Given the description of an element on the screen output the (x, y) to click on. 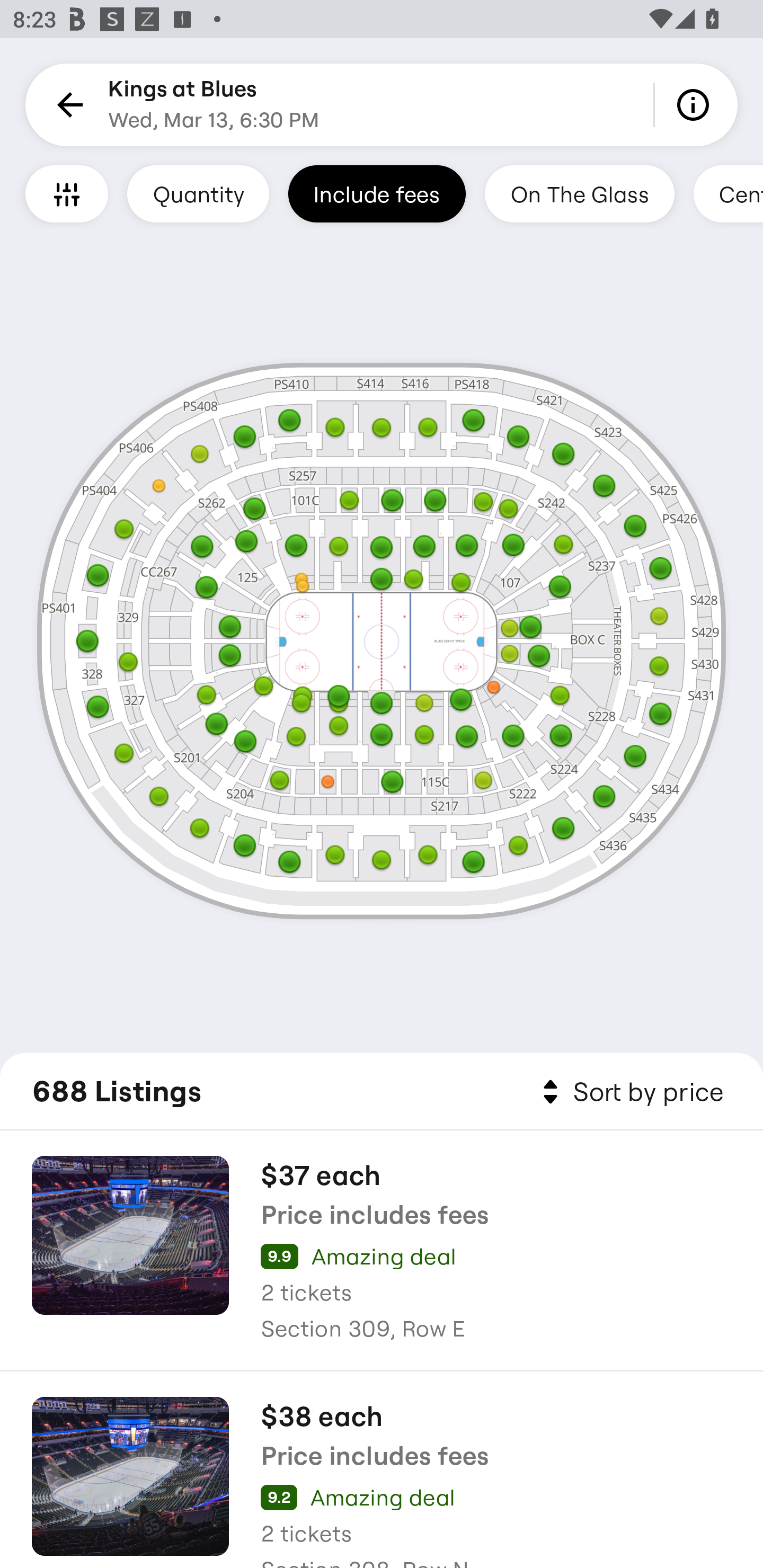
Back (66, 104)
Kings at Blues Wed, Mar 13, 6:30 PM (213, 104)
Info (695, 104)
Filters and Accessible Seating (66, 193)
Quantity (198, 193)
Include fees (376, 193)
On The Glass (579, 193)
Sort by price (629, 1091)
